Given the description of an element on the screen output the (x, y) to click on. 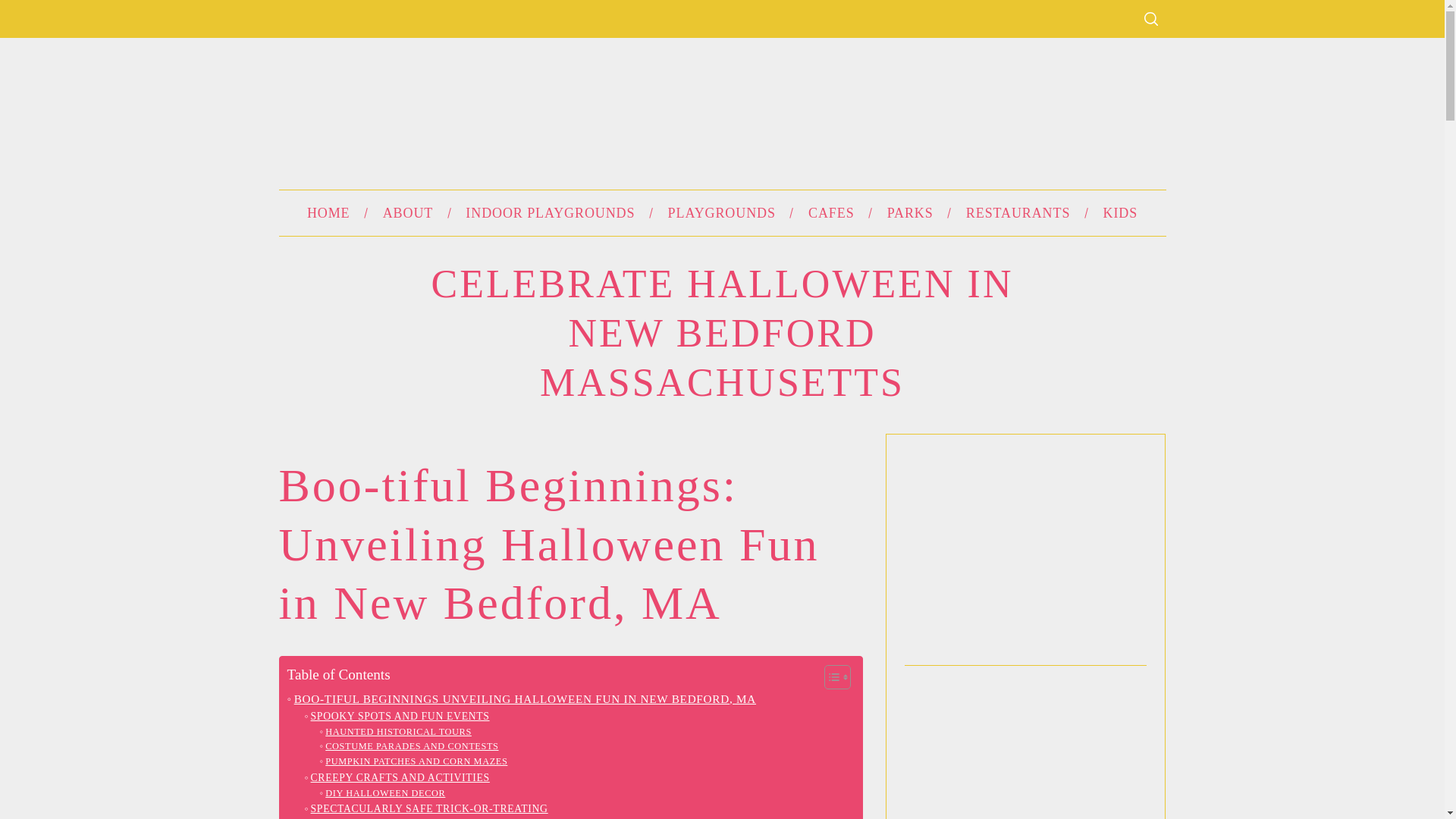
DIY Halloween Decor (382, 793)
Spooky Spots and Fun Events (396, 716)
Costume Parades and Contests (409, 746)
SPOOKY SPOTS AND FUN EVENTS (396, 716)
Creepy Crafts and Activities (396, 777)
Spectacularly Safe Trick-or-Treating (425, 808)
PUMPKIN PATCHES AND CORN MAZES (414, 761)
DIY HALLOWEEN DECOR (382, 793)
Pumpkin Patches and Corn Mazes (414, 761)
COSTUME PARADES AND CONTESTS (409, 746)
CREEPY CRAFTS AND ACTIVITIES (396, 777)
